Given the description of an element on the screen output the (x, y) to click on. 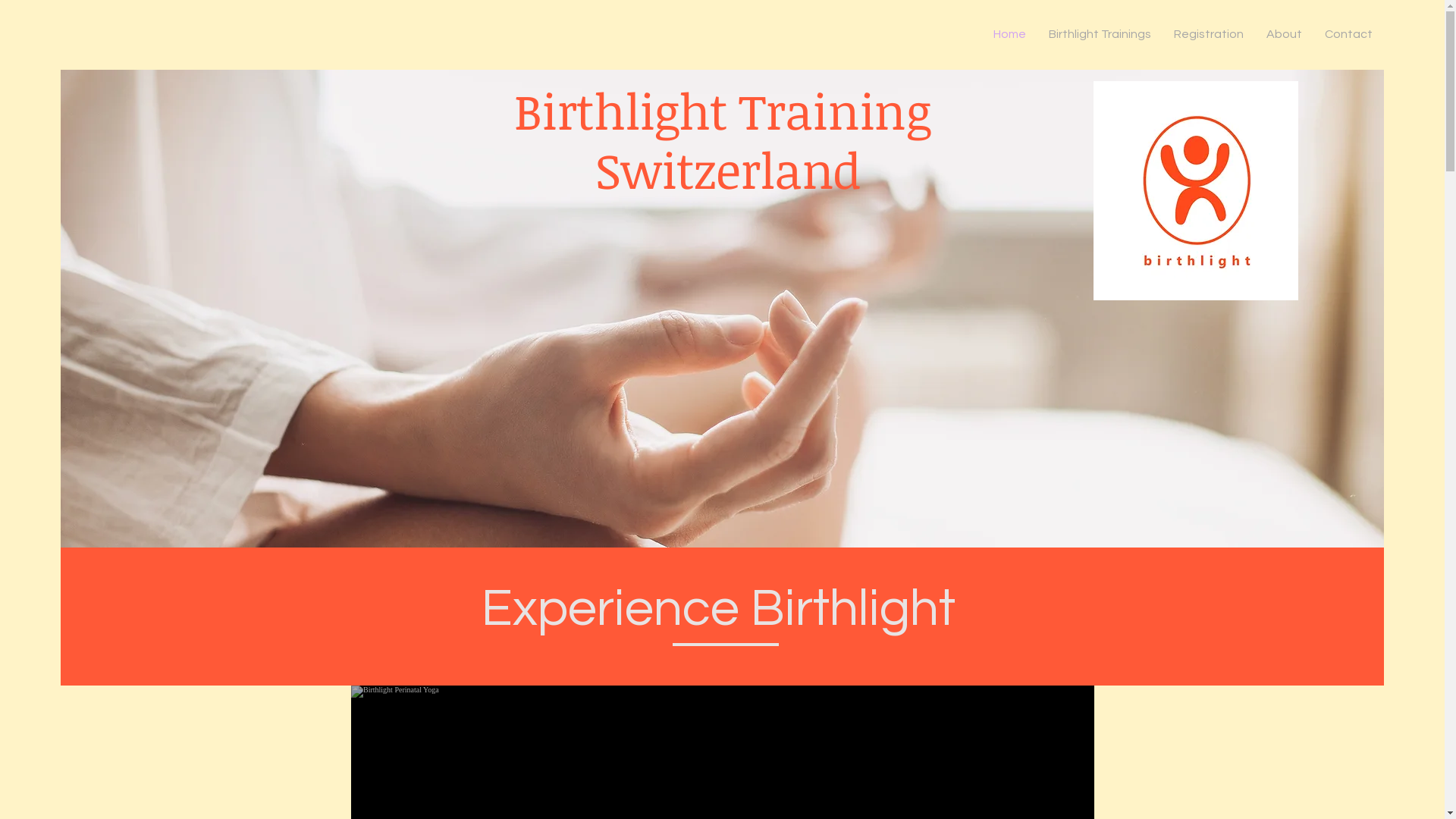
Birthlight Trainings Element type: text (1099, 34)
Home Element type: text (1009, 34)
Registration Element type: text (1208, 34)
Contact Element type: text (1348, 34)
About Element type: text (1284, 34)
